Given the description of an element on the screen output the (x, y) to click on. 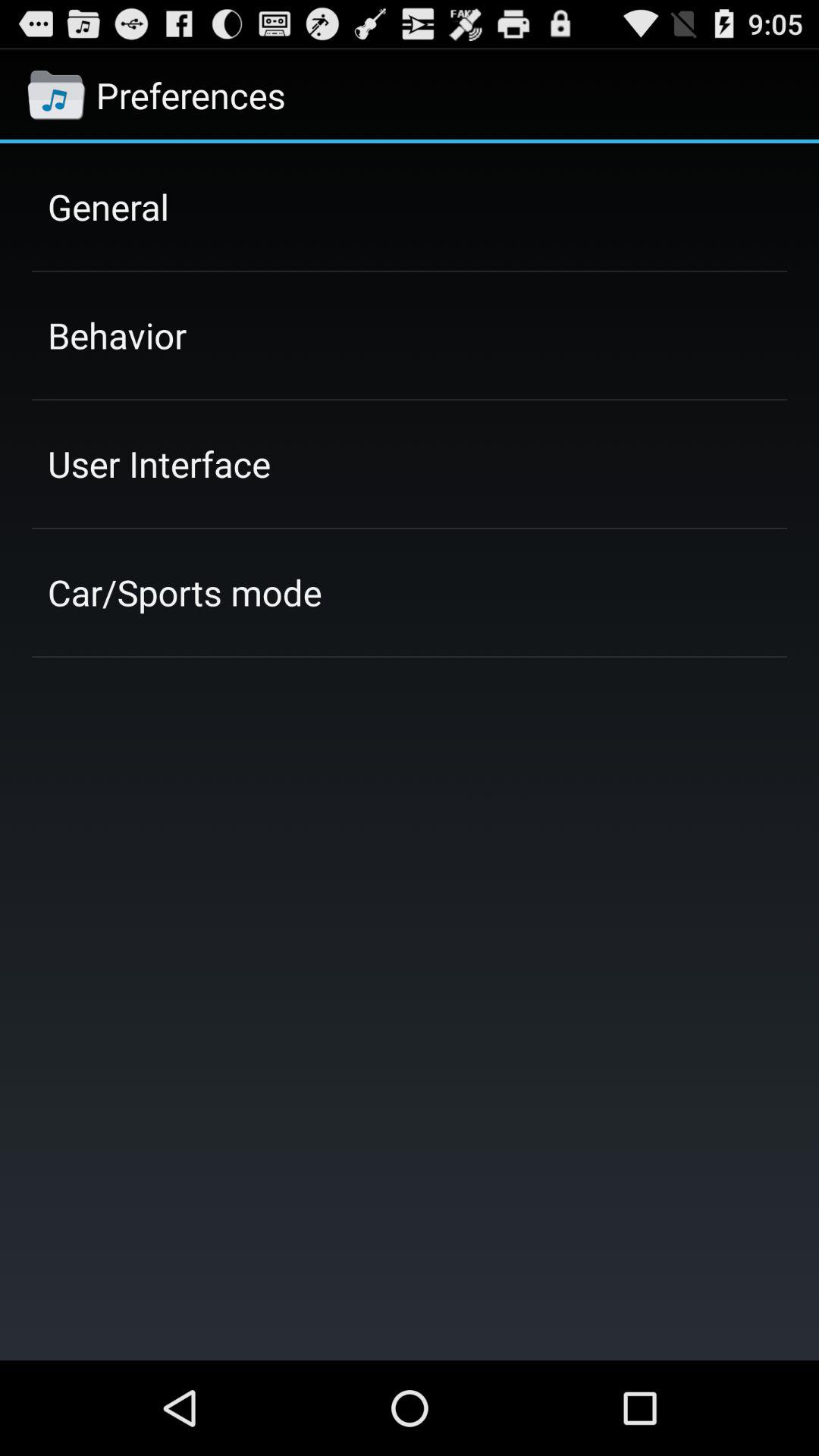
open user interface (158, 463)
